Given the description of an element on the screen output the (x, y) to click on. 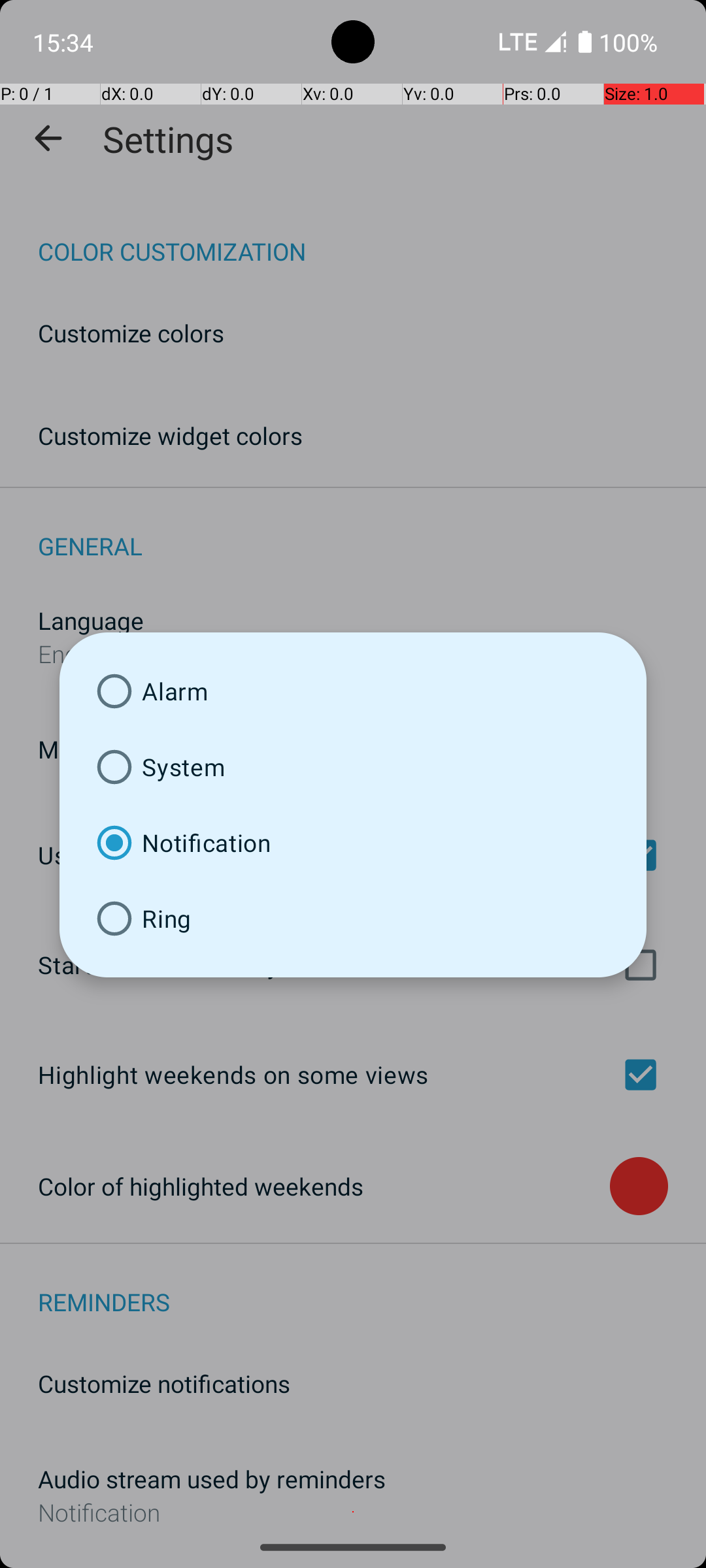
Ring Element type: android.widget.RadioButton (352, 918)
